Given the description of an element on the screen output the (x, y) to click on. 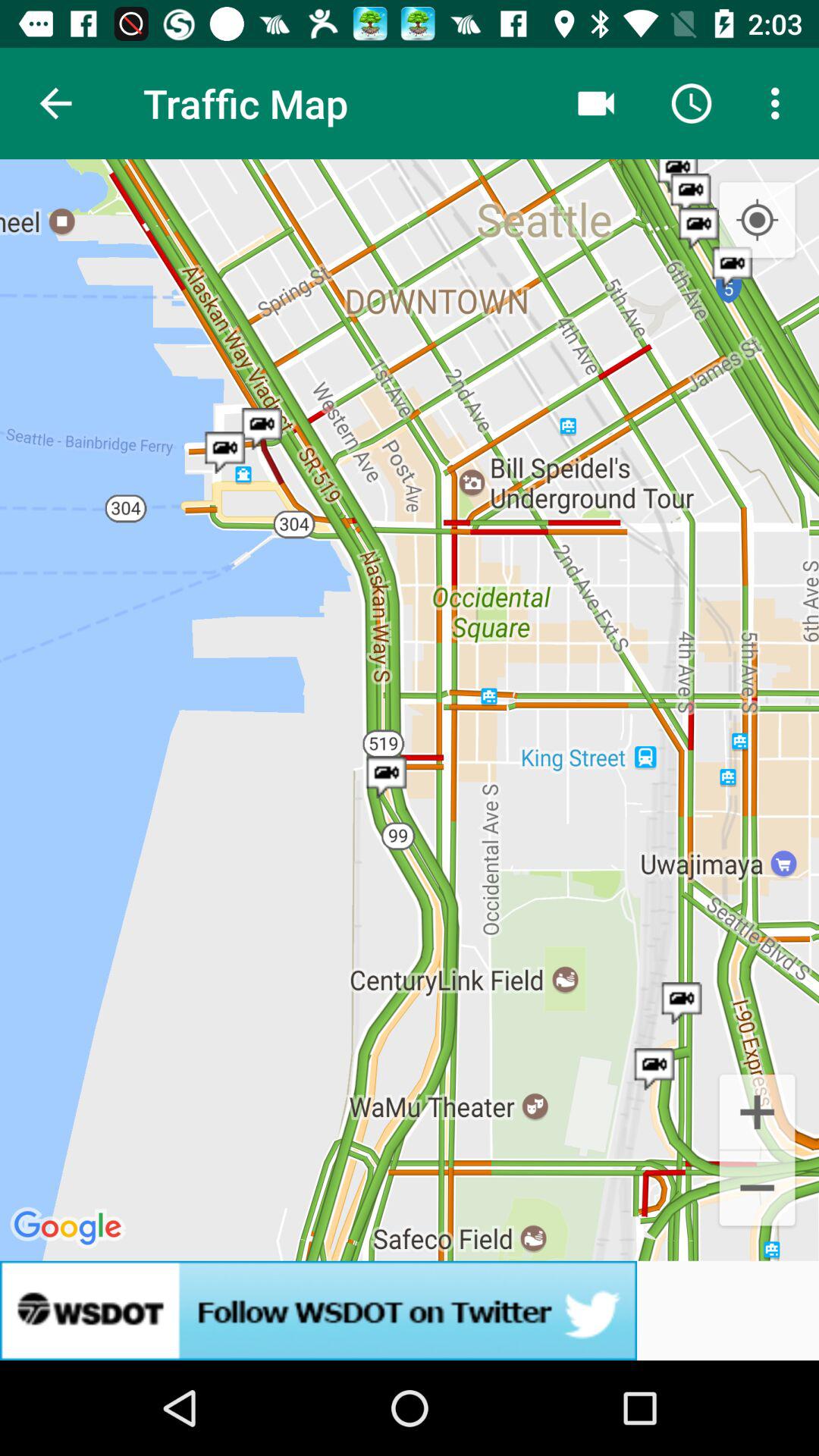
know about the advertisement (409, 1310)
